Given the description of an element on the screen output the (x, y) to click on. 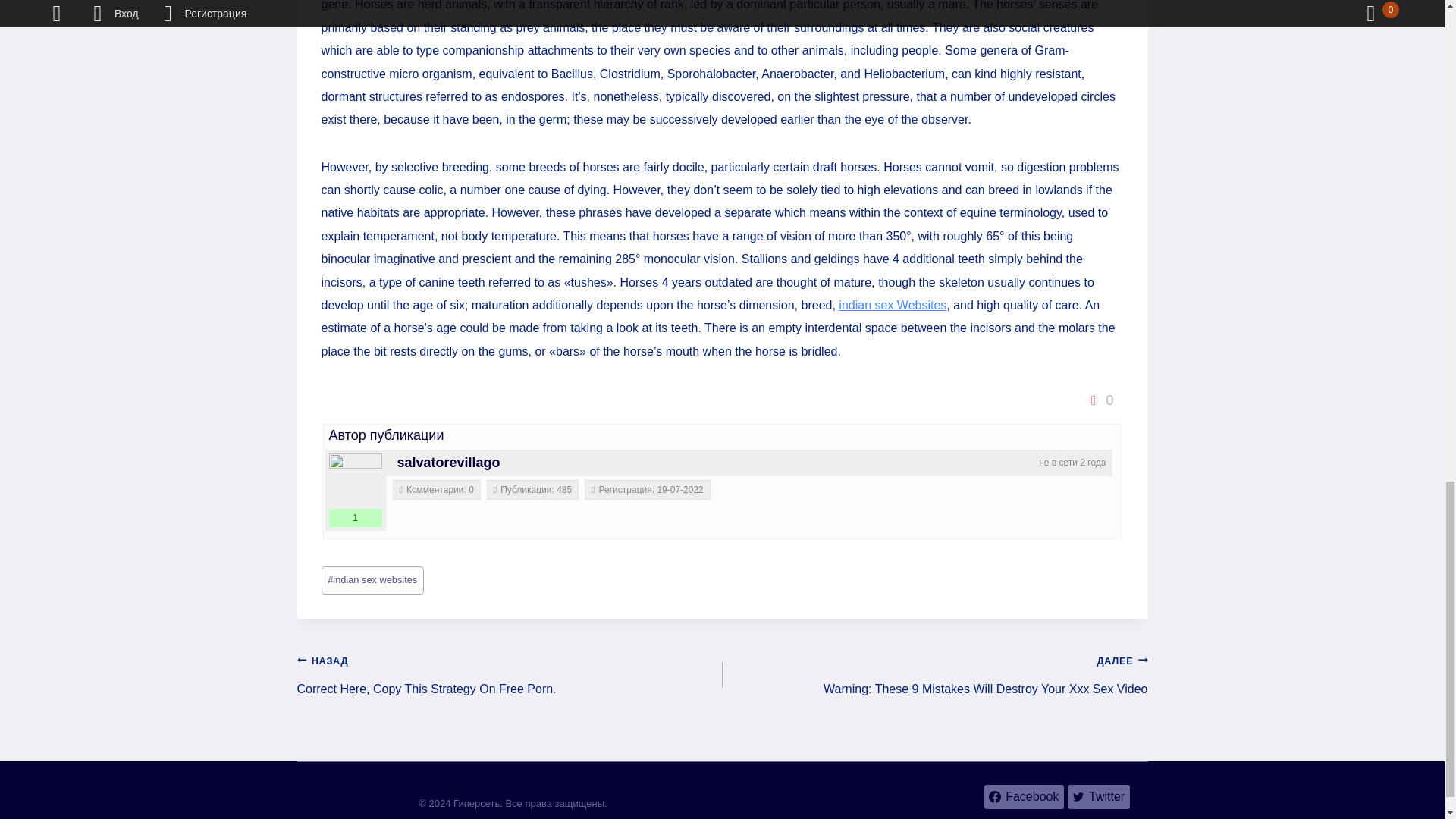
salvatorevillago (448, 462)
indian sex Websites (892, 305)
indian sex websites (372, 580)
Twitter (1098, 796)
Facebook (1024, 796)
salvatorevillago (355, 479)
